Given the description of an element on the screen output the (x, y) to click on. 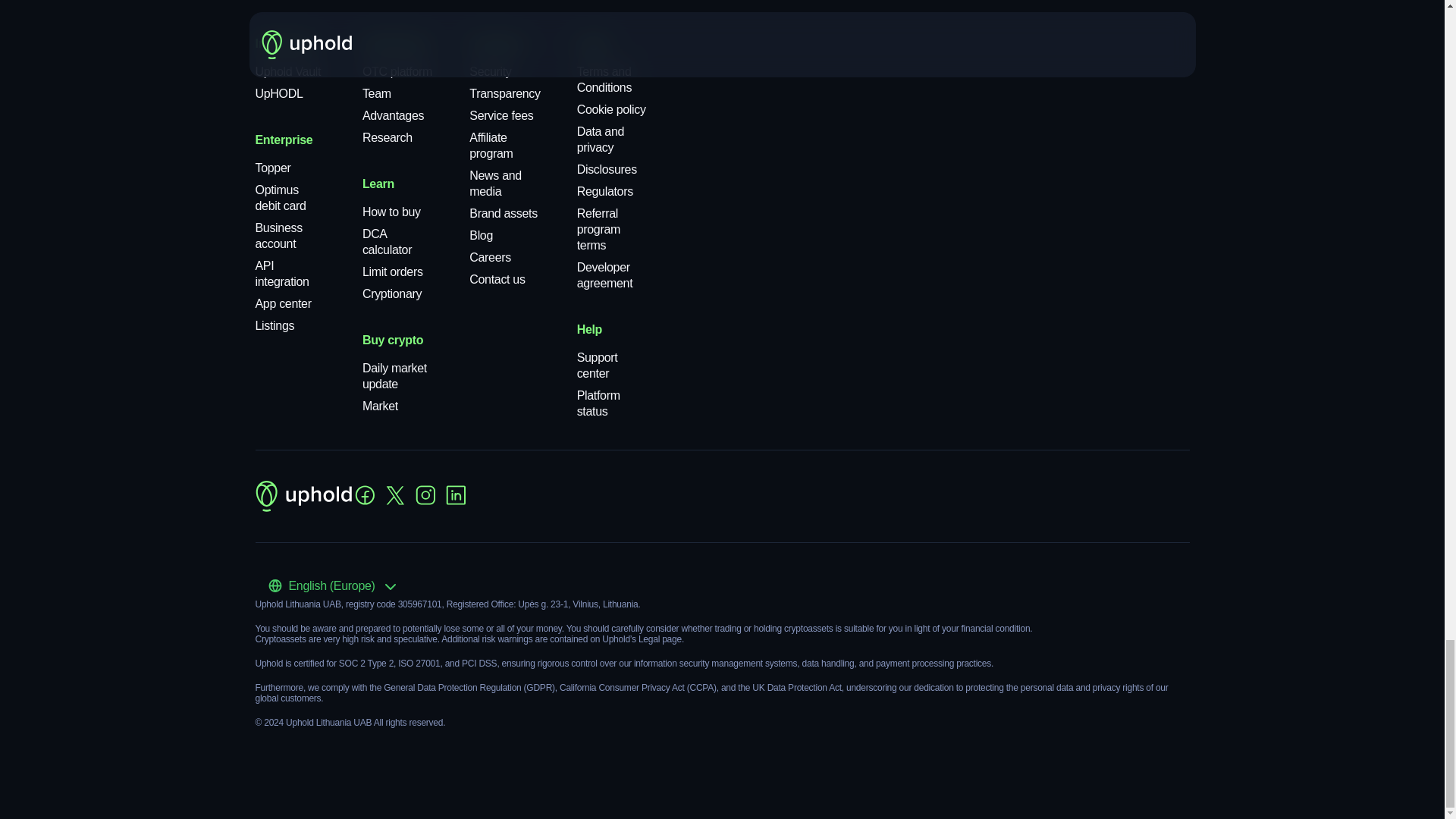
OTC platform (397, 71)
Optimus debit card (279, 197)
How to buy (391, 211)
Advantages (392, 115)
Company (495, 42)
Limit orders (392, 271)
Cryptionary (392, 293)
Daily market update (394, 375)
DCA calculator (387, 241)
Security (489, 71)
